Given the description of an element on the screen output the (x, y) to click on. 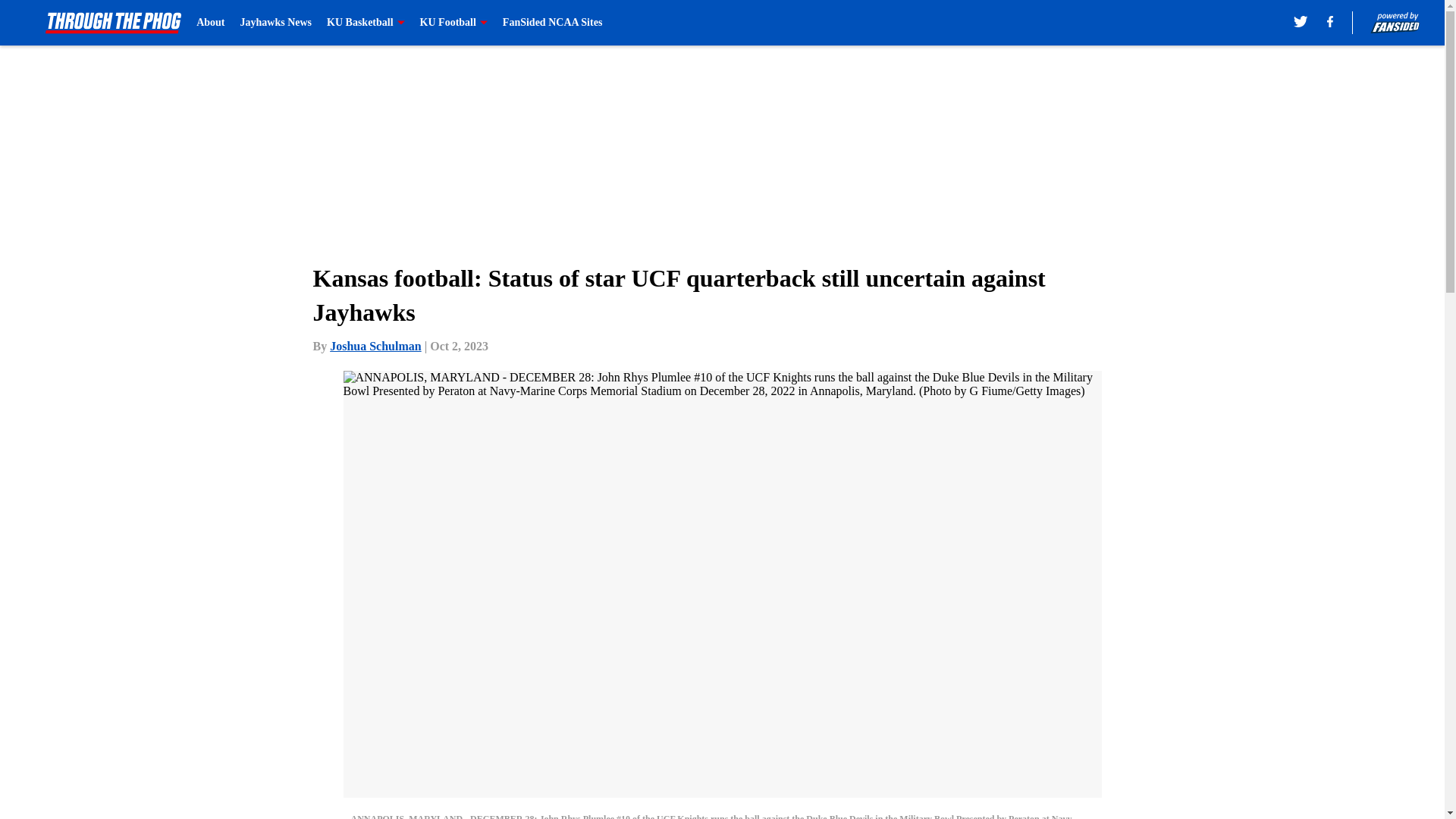
About (210, 22)
Joshua Schulman (376, 345)
FanSided NCAA Sites (552, 22)
Jayhawks News (276, 22)
